Given the description of an element on the screen output the (x, y) to click on. 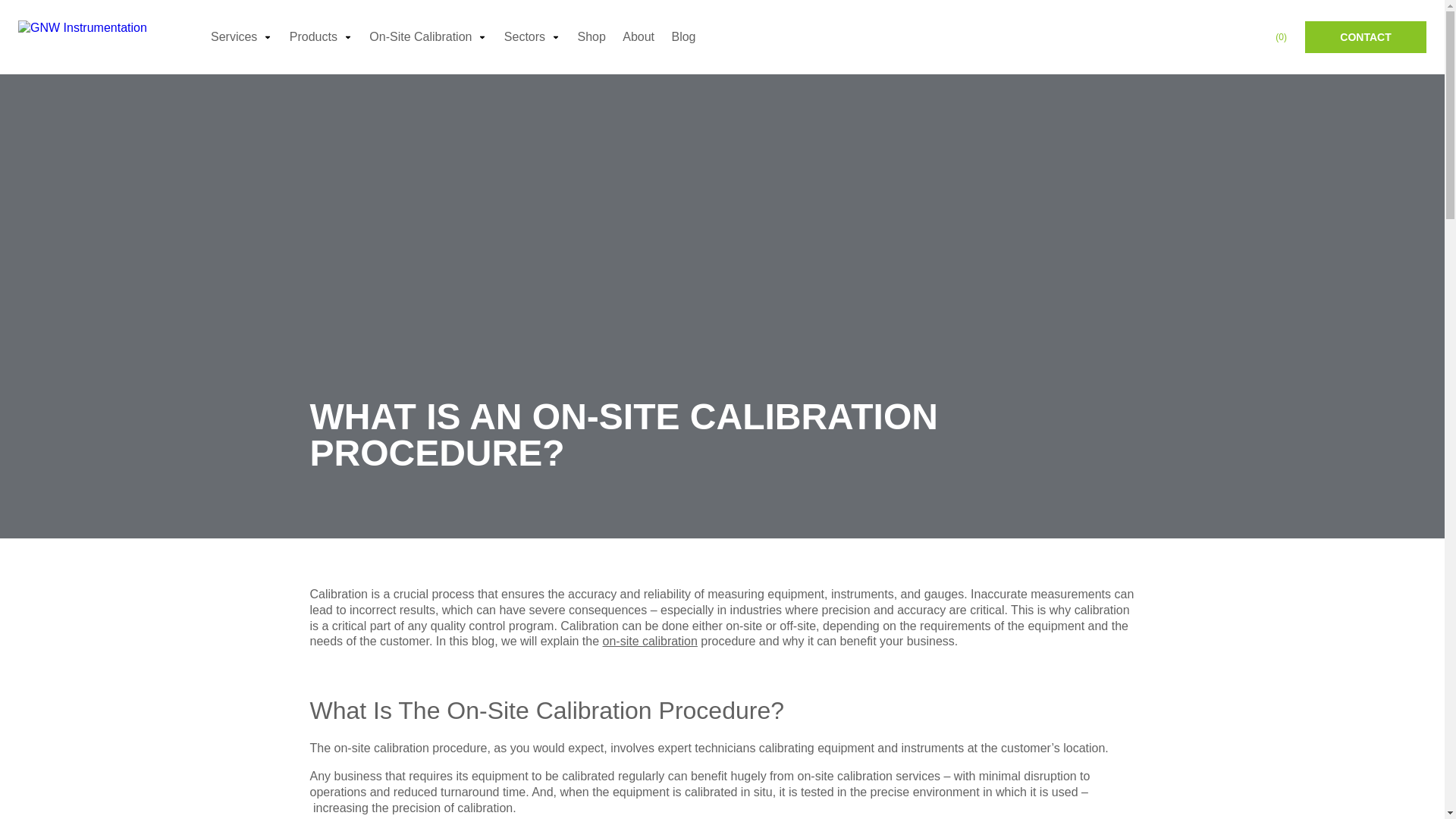
Products (320, 37)
Services (241, 37)
